Given the description of an element on the screen output the (x, y) to click on. 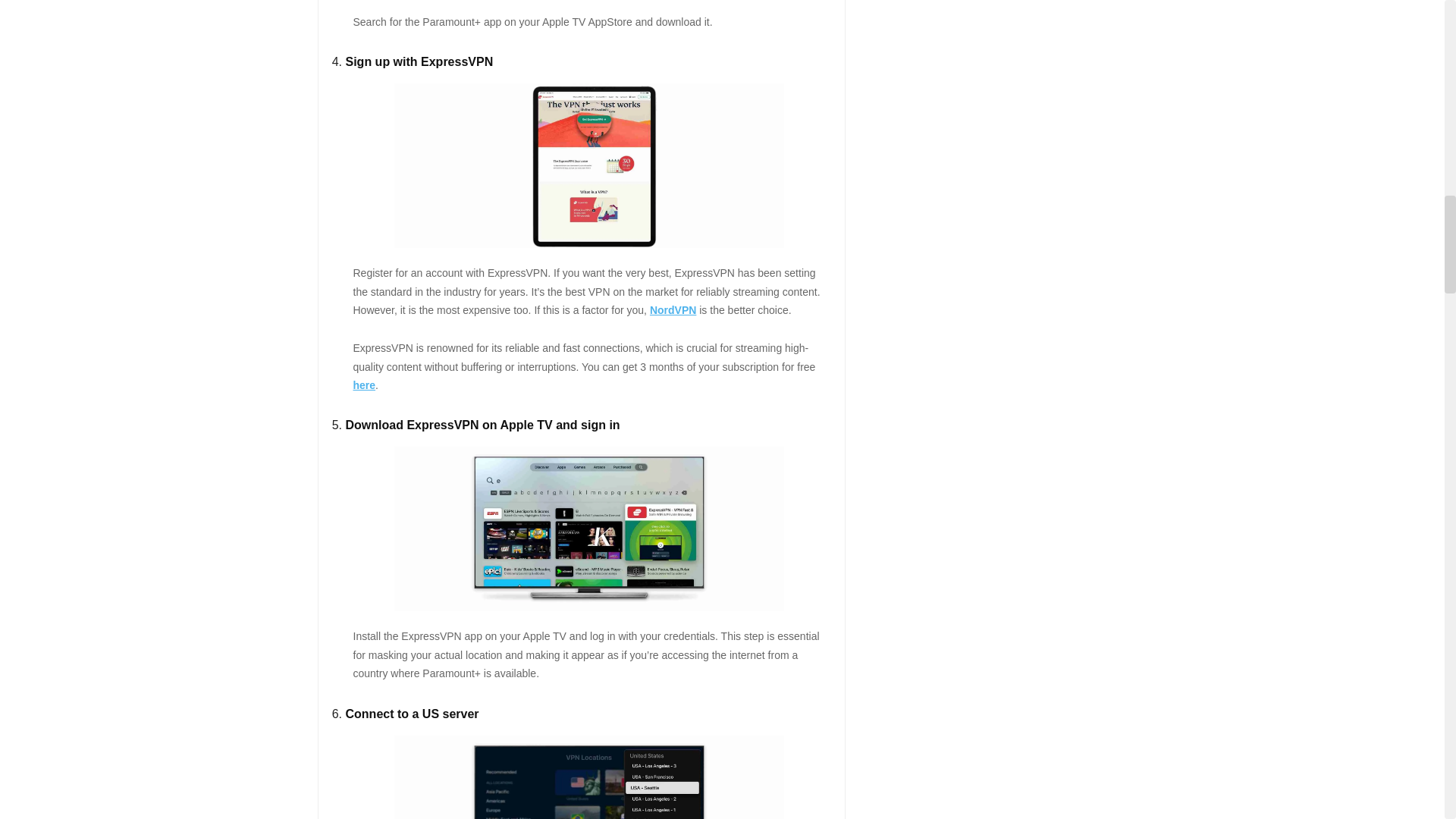
NordVPN (672, 309)
here (364, 385)
